Given the description of an element on the screen output the (x, y) to click on. 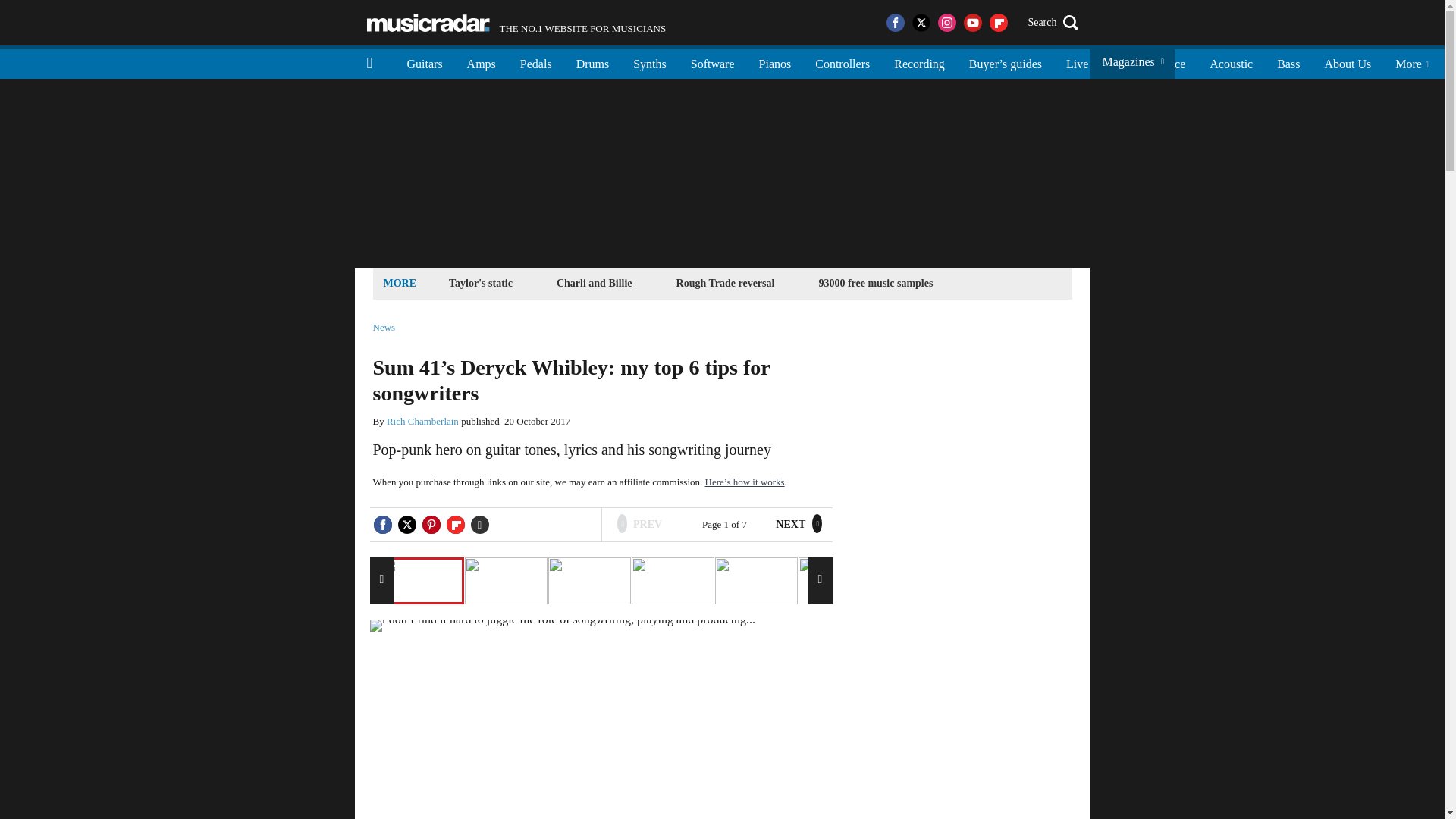
Drums (592, 61)
Synths (649, 61)
Rich Chamberlain (422, 420)
Charli and Billie (594, 282)
Advice (1167, 61)
93000 free music samples (874, 282)
Rough Trade reversal (516, 22)
Music Radar (725, 282)
Pedals (427, 22)
